Given the description of an element on the screen output the (x, y) to click on. 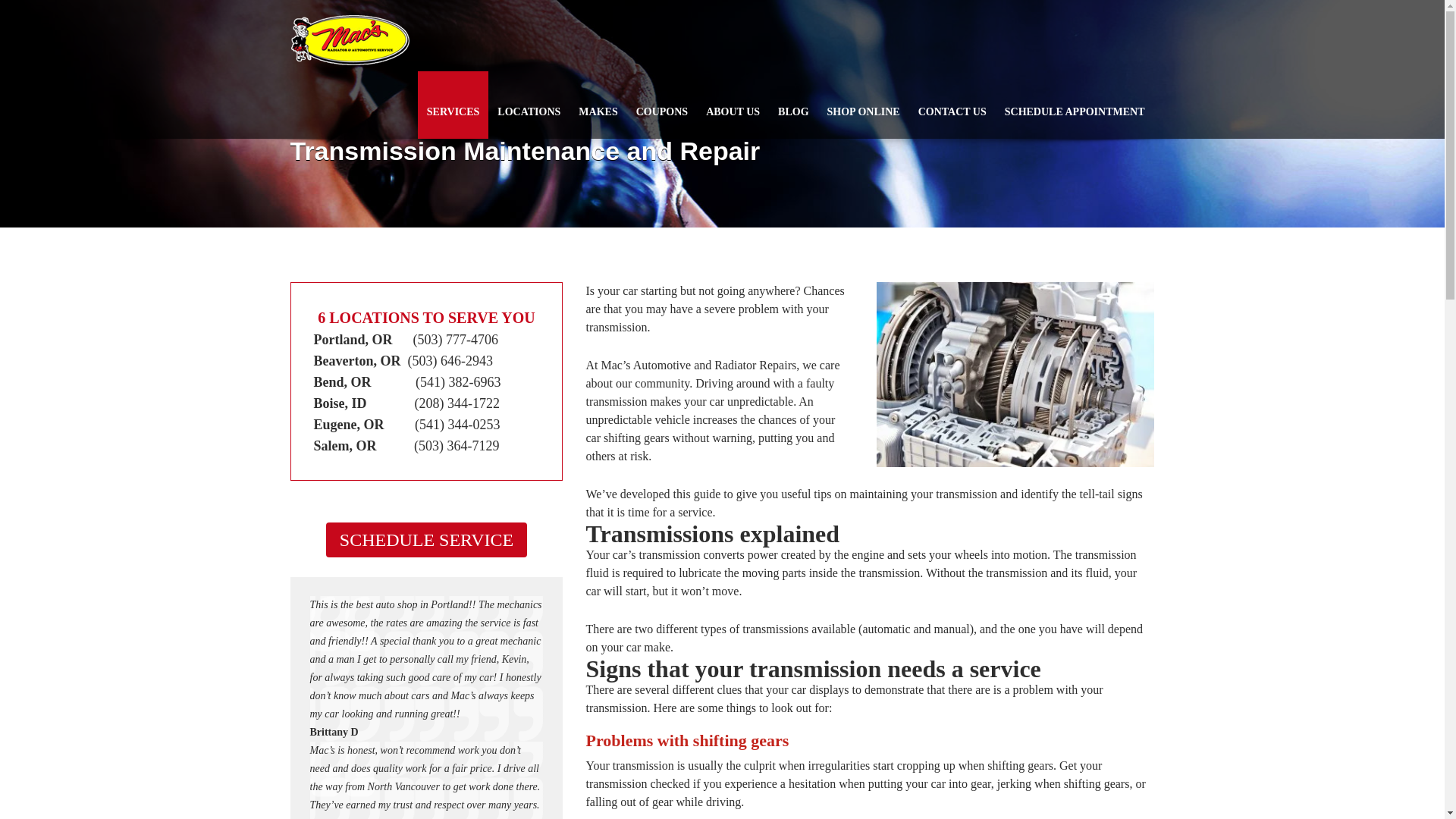
SCHEDULE APPOINTMENT (1074, 104)
SHOP ONLINE (863, 104)
LOCATIONS (528, 104)
ABOUT US (732, 104)
CONTACT US (951, 104)
SERVICES (453, 104)
COUPONS (662, 104)
